Given the description of an element on the screen output the (x, y) to click on. 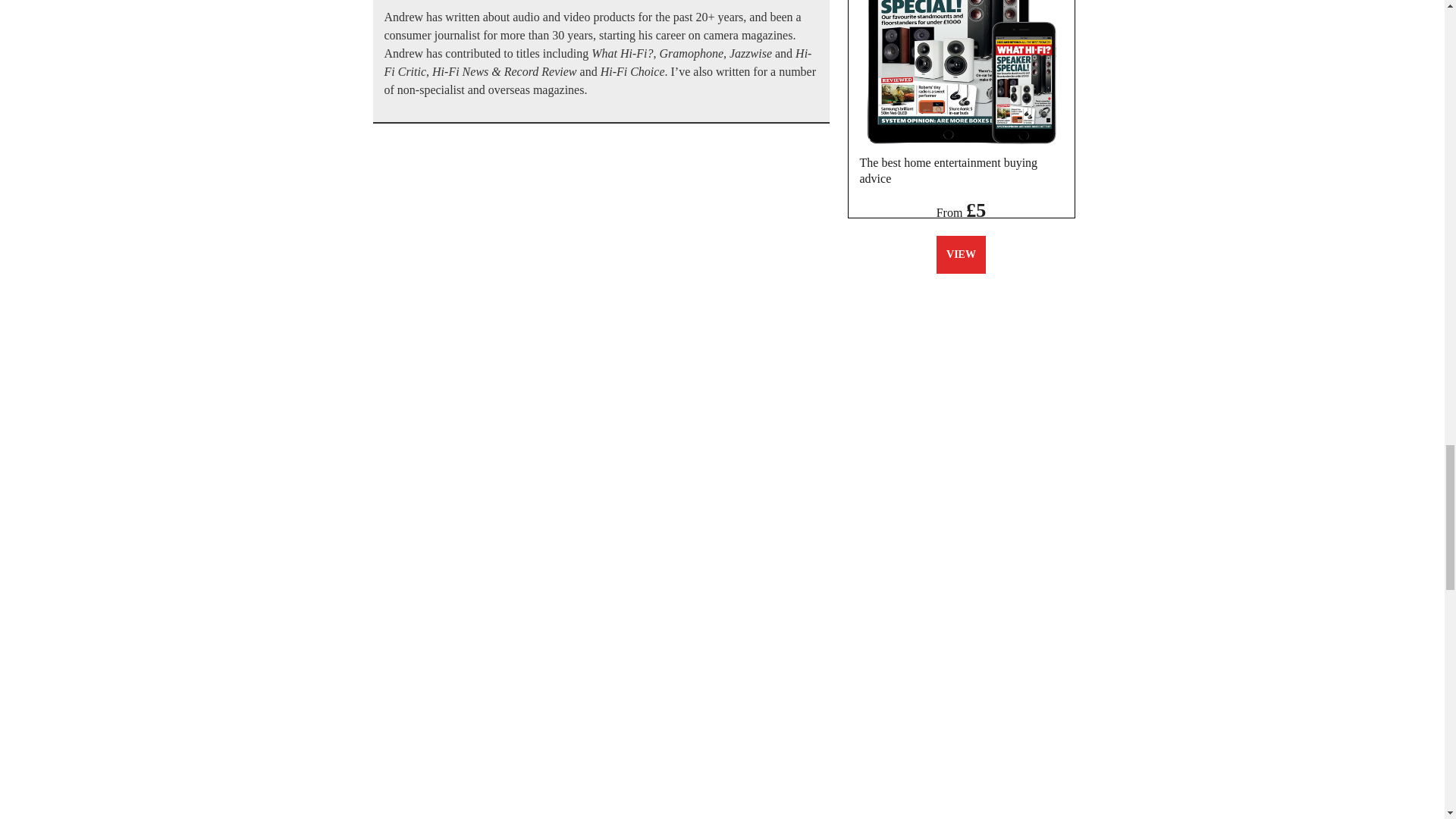
What Hi-Fi Magazine... (960, 72)
